Given the description of an element on the screen output the (x, y) to click on. 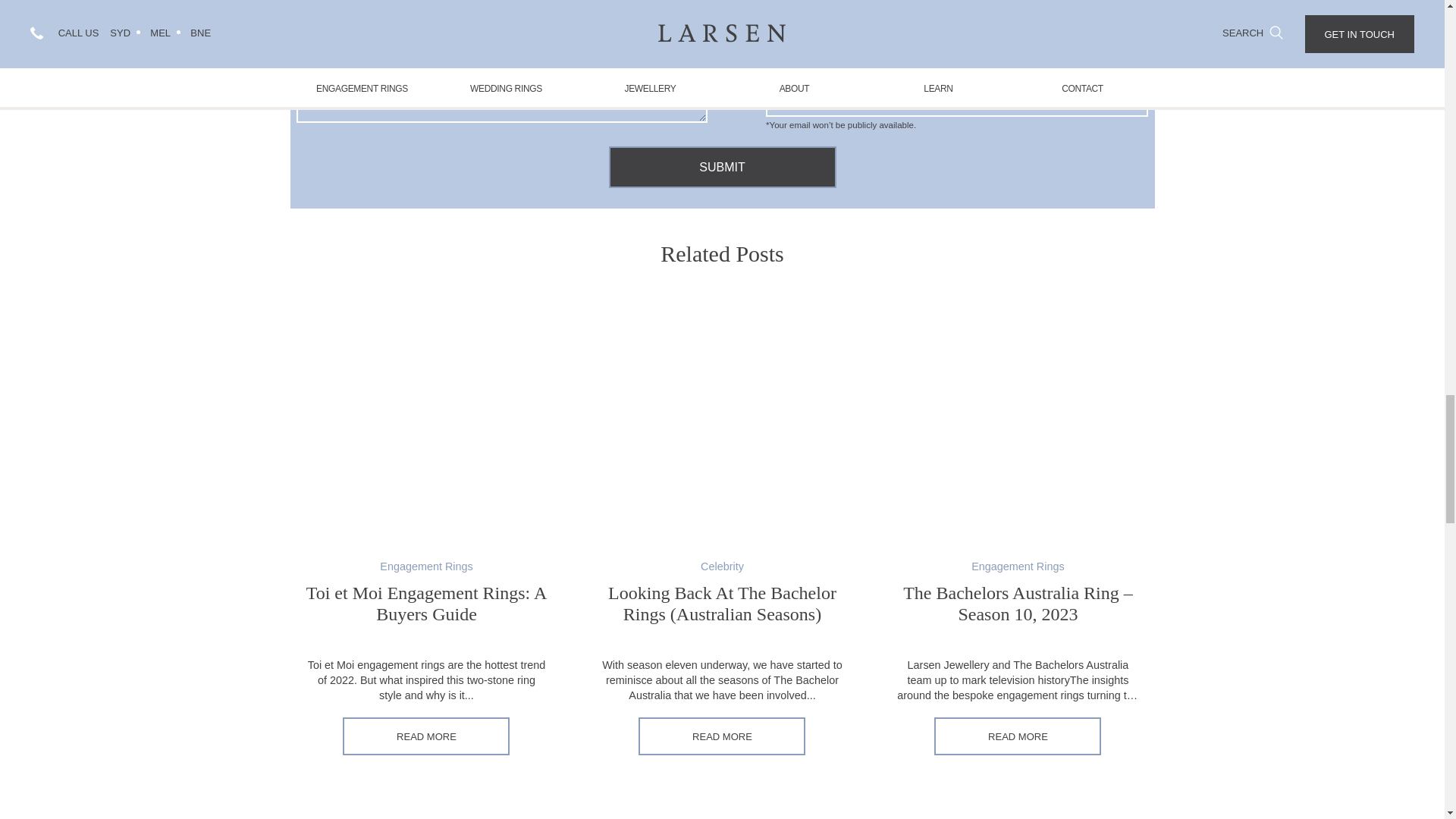
Submit (721, 167)
